Given the description of an element on the screen output the (x, y) to click on. 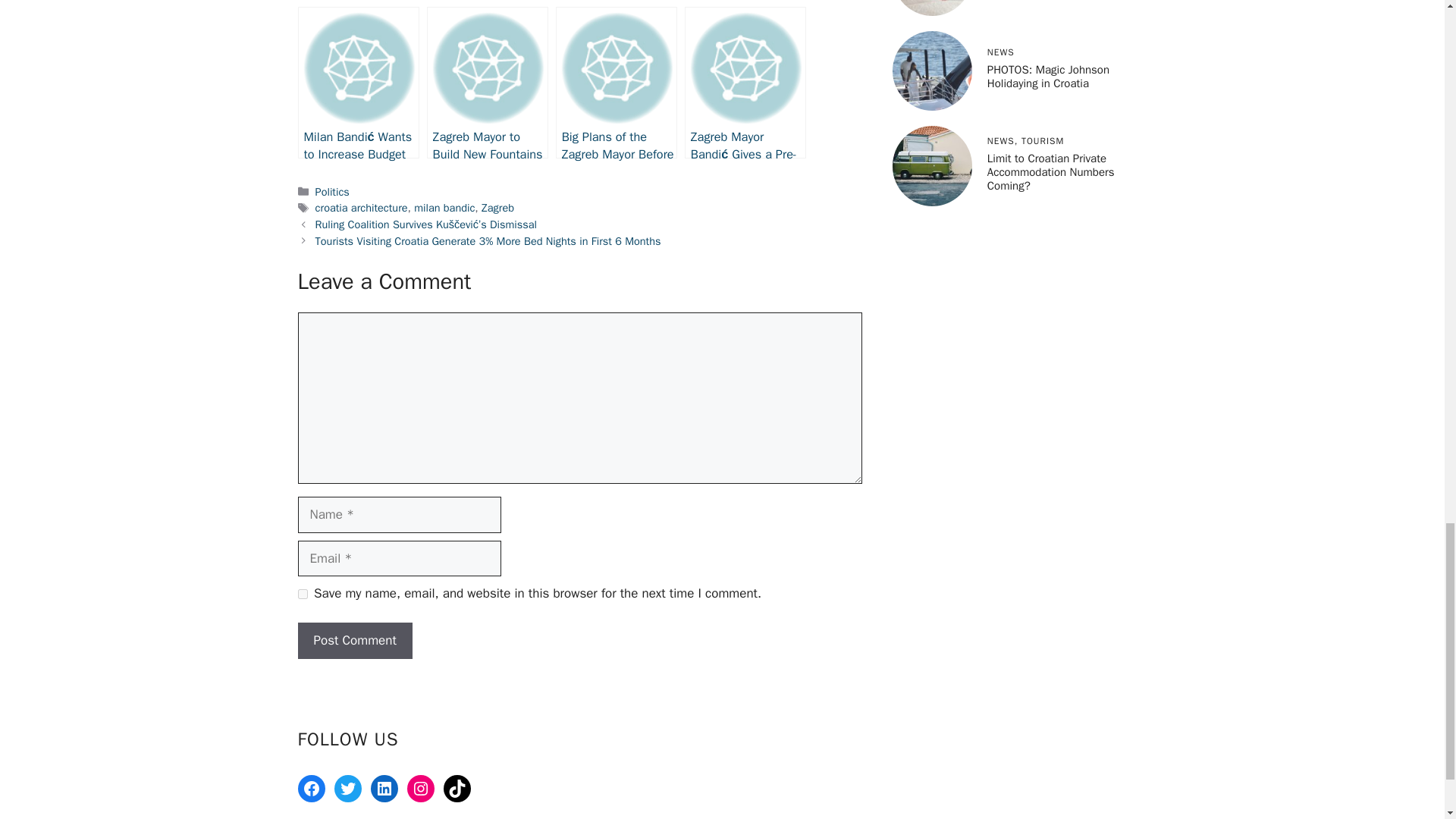
Post Comment (354, 640)
yes (302, 593)
